Given the description of an element on the screen output the (x, y) to click on. 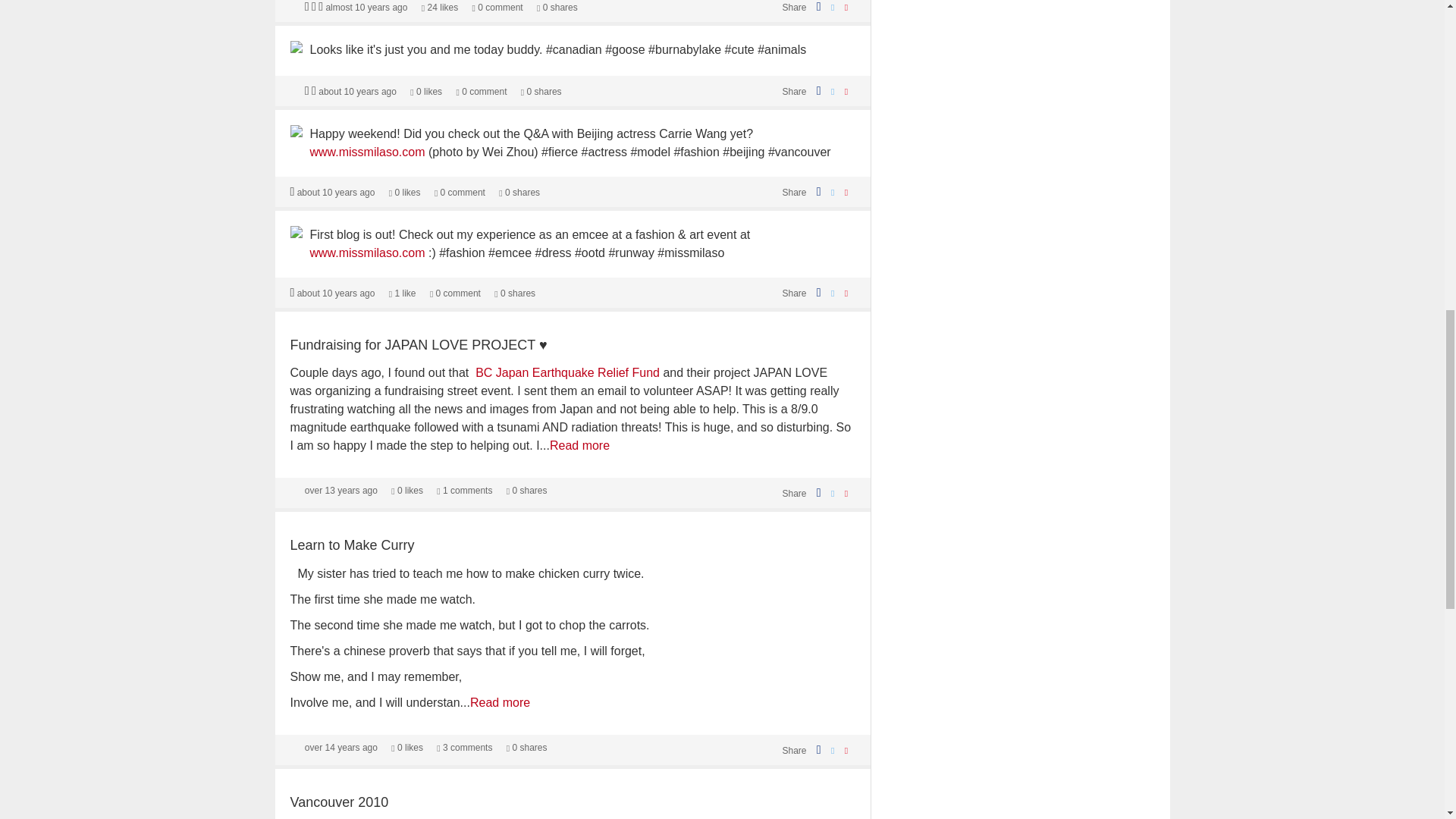
 0 comment (496, 7)
 0 comment (458, 192)
www.missmilaso.com (366, 151)
 0 comment (480, 91)
www.missmilaso.com (366, 252)
about 10 years ago (336, 192)
almost 10 years ago (365, 7)
about 10 years ago (357, 91)
